Given the description of an element on the screen output the (x, y) to click on. 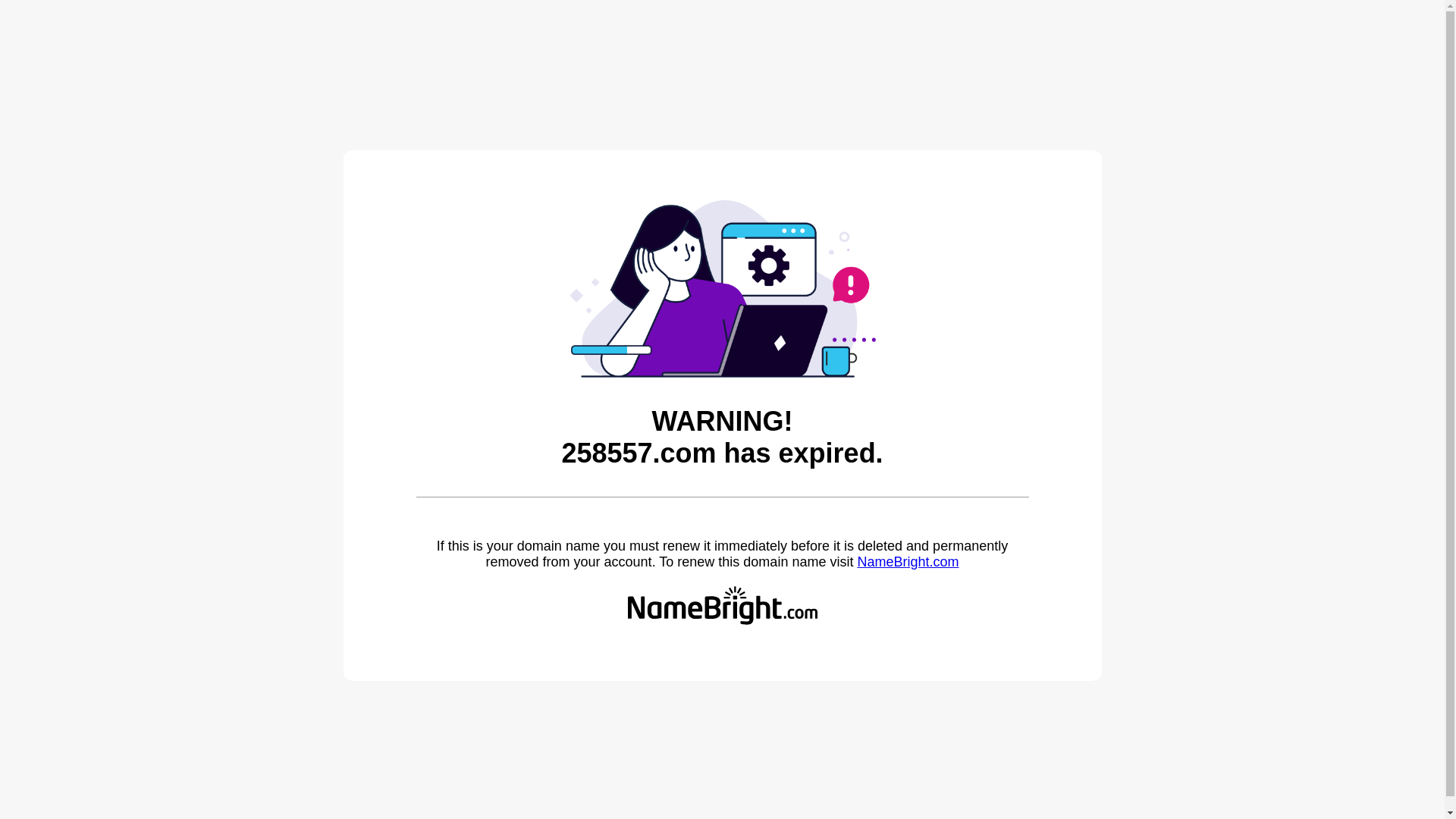
NameBright.com Element type: text (907, 561)
